Given the description of an element on the screen output the (x, y) to click on. 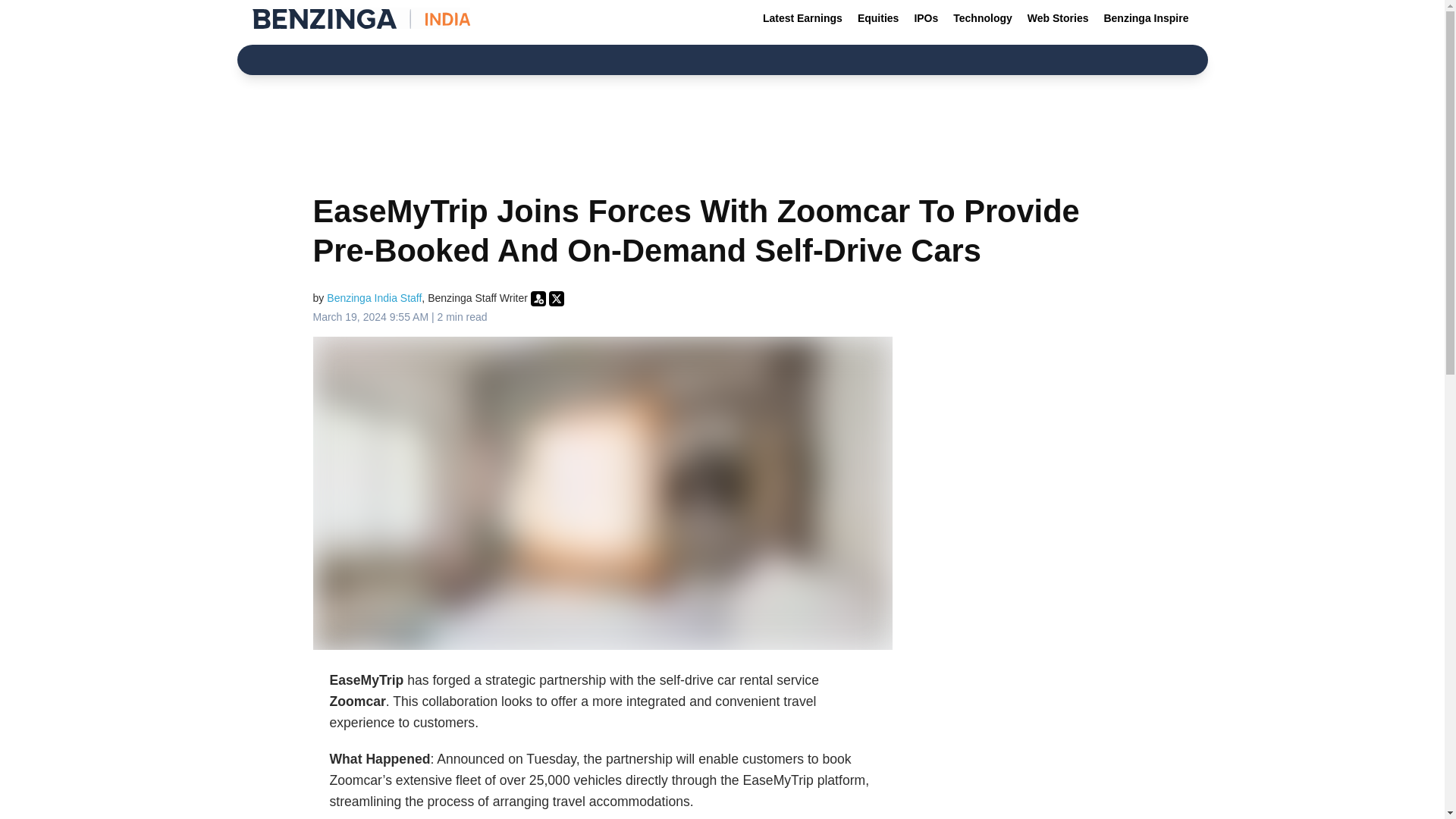
Benzinga Inspire (1145, 18)
Latest Earnings (802, 18)
Latest Earnings (802, 18)
Web Stories (1058, 18)
Equities (877, 18)
IPOs (924, 18)
Technology (982, 18)
Benzinga India Staff (374, 297)
Equities (877, 18)
